Given the description of an element on the screen output the (x, y) to click on. 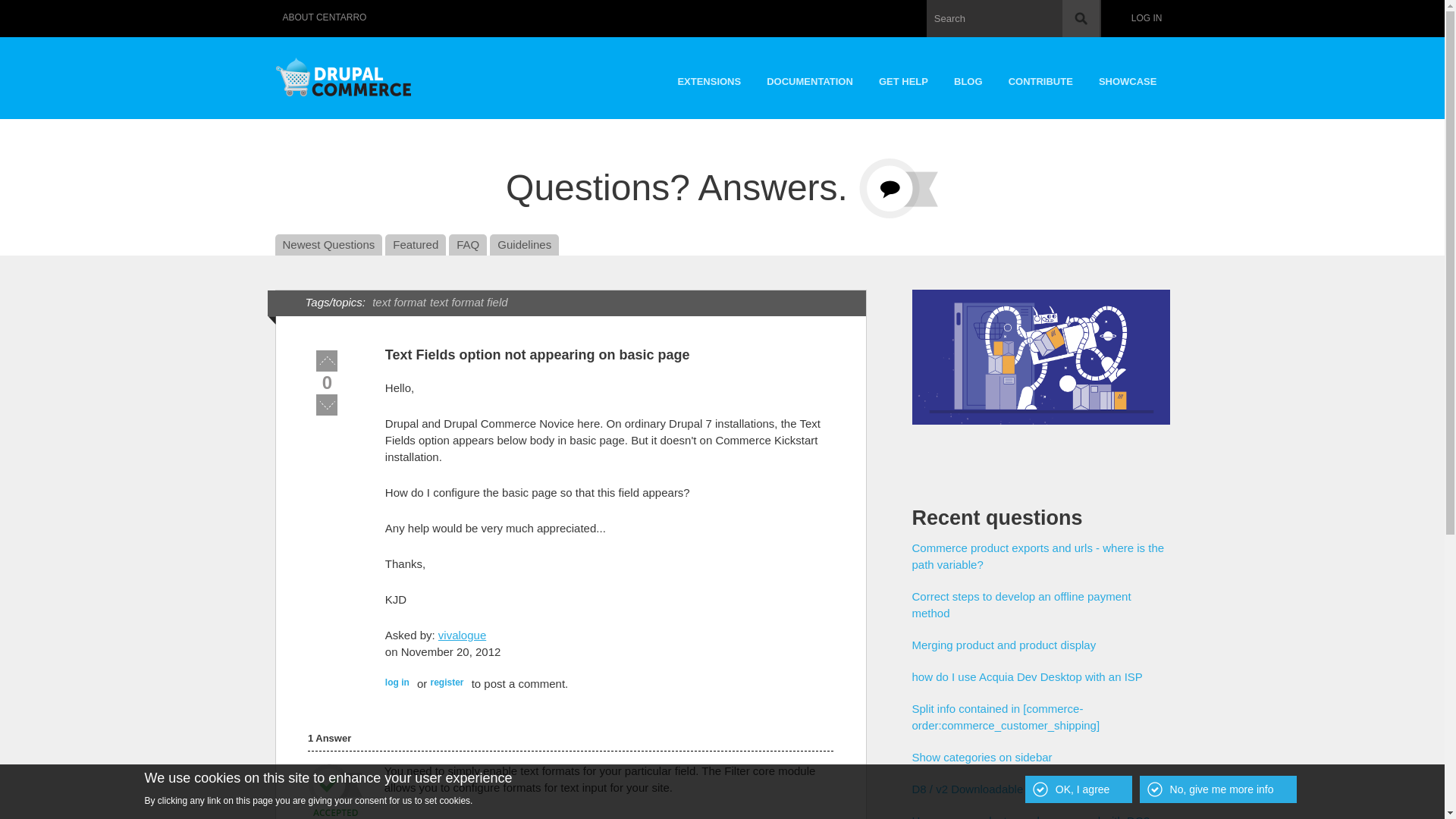
DOCUMENTATION (810, 77)
CONTRIBUTE (1041, 77)
Vote down! (326, 404)
log in (397, 682)
vivalogue (462, 634)
EXTENSIONS (709, 77)
Search (1080, 18)
ABOUT CENTARRO (324, 18)
Skip to main content (688, 1)
register (446, 682)
Enter the terms you wish to search for. (1013, 18)
View user profile. (462, 634)
SHOWCASE (1128, 77)
FAQ (468, 244)
